Given the description of an element on the screen output the (x, y) to click on. 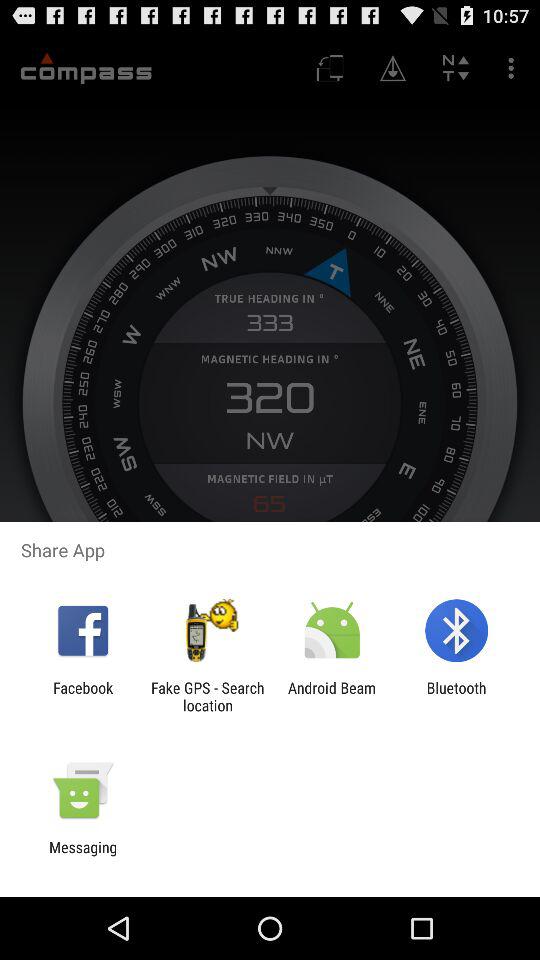
choose the icon to the left of the bluetooth (332, 696)
